Given the description of an element on the screen output the (x, y) to click on. 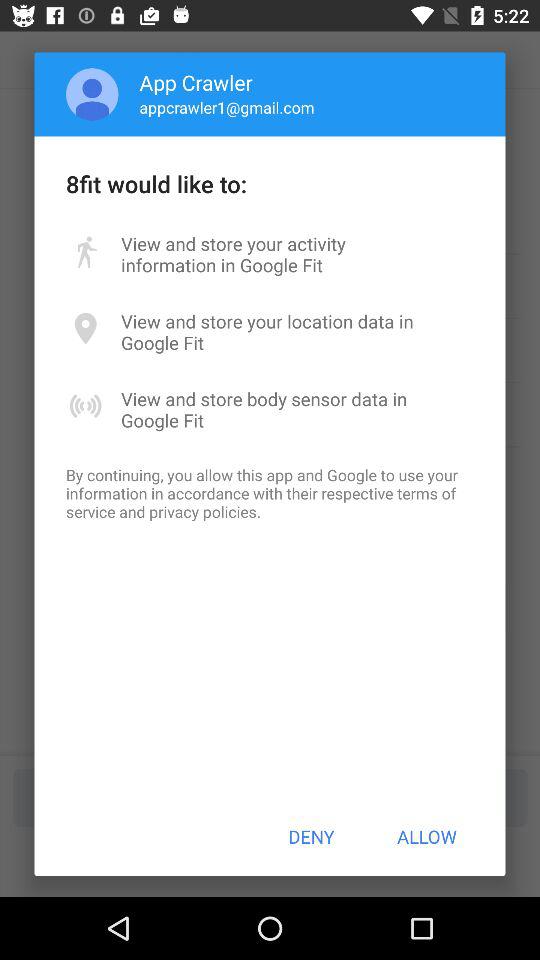
flip until appcrawler1@gmail.com (226, 107)
